Given the description of an element on the screen output the (x, y) to click on. 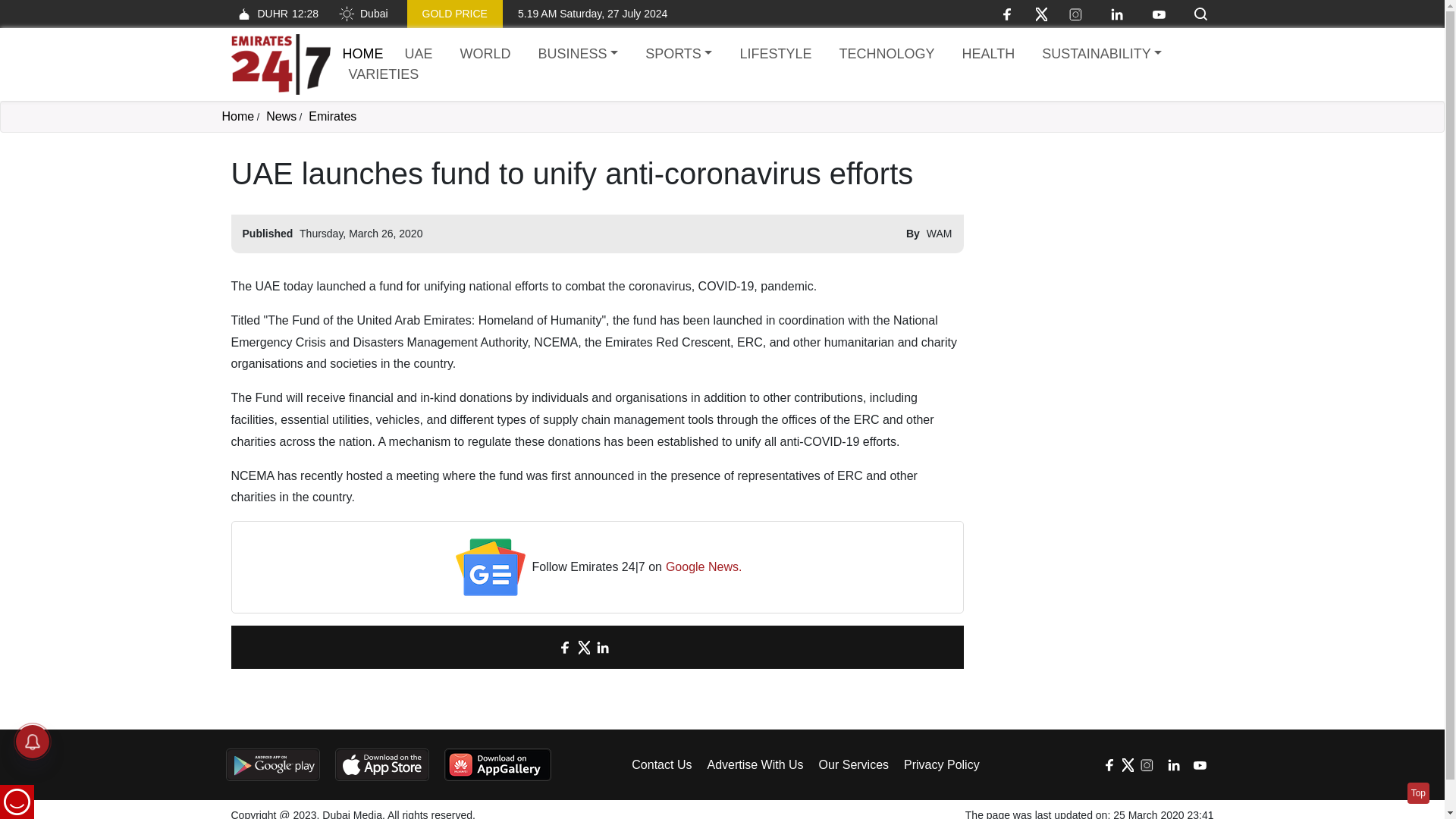
VARIETIES (383, 74)
Emirates (332, 115)
HOME (363, 53)
GOLD PRICE (454, 13)
Home (363, 53)
3rd party ad content (1097, 249)
SPORTS (678, 54)
TECHNOLOGY (886, 54)
LIFESTYLE (774, 54)
BUSINESS (578, 54)
UAE (418, 54)
Dubai (362, 13)
HEALTH (987, 54)
WORLD (485, 54)
News (281, 115)
